Given the description of an element on the screen output the (x, y) to click on. 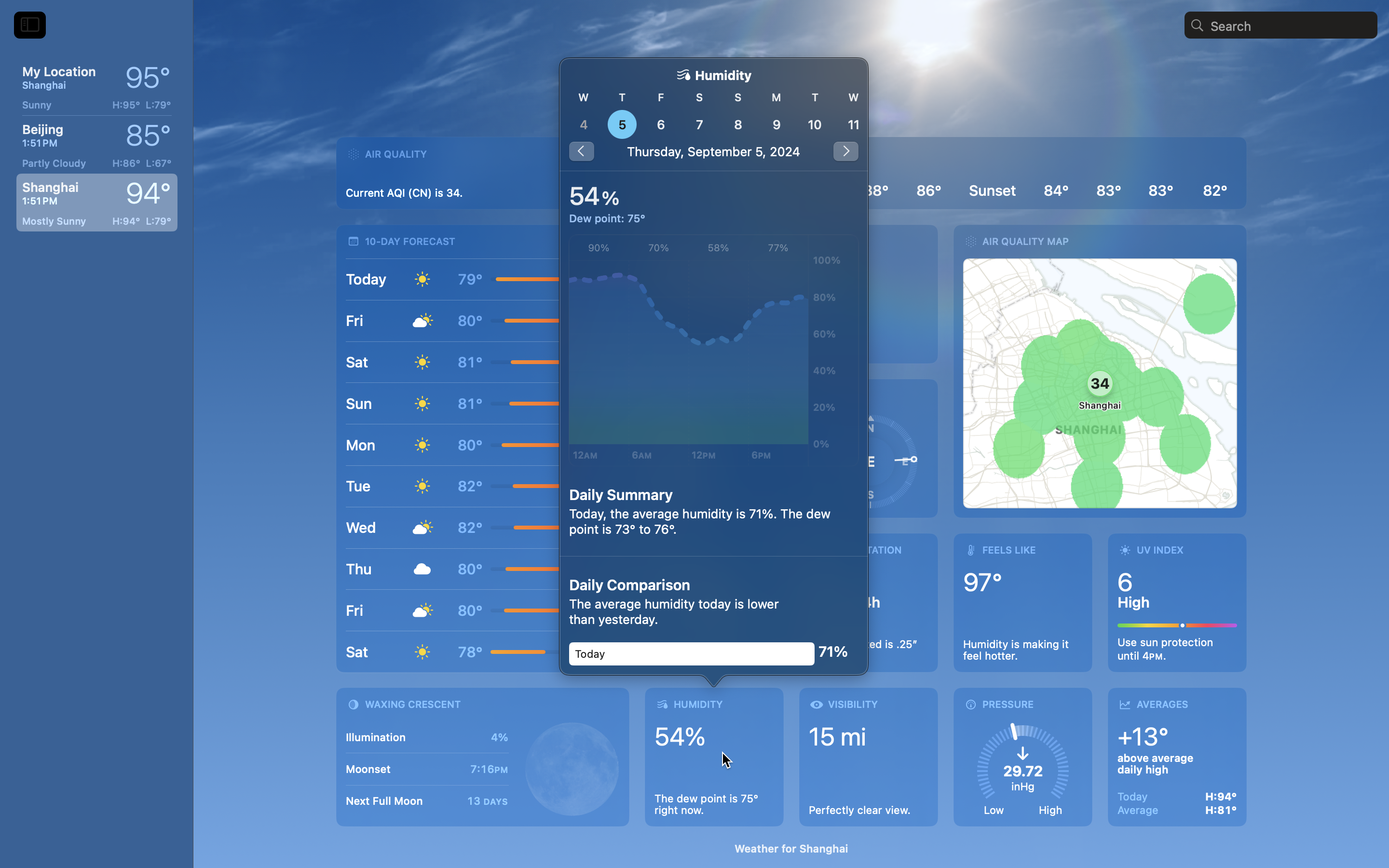
nan Element type: AXSlider (713, 114)
